Given the description of an element on the screen output the (x, y) to click on. 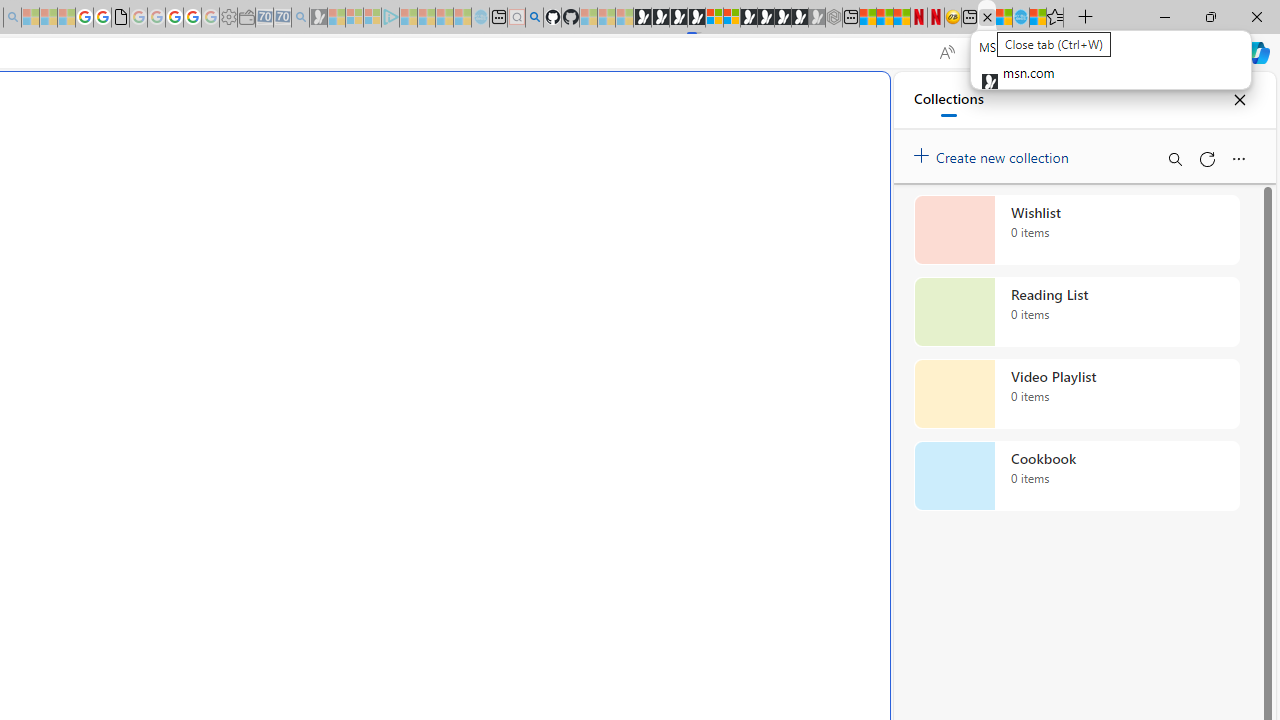
Services - Maintenance | Sky Blue Bikes - Sky Blue Bikes (1020, 17)
